Given the description of an element on the screen output the (x, y) to click on. 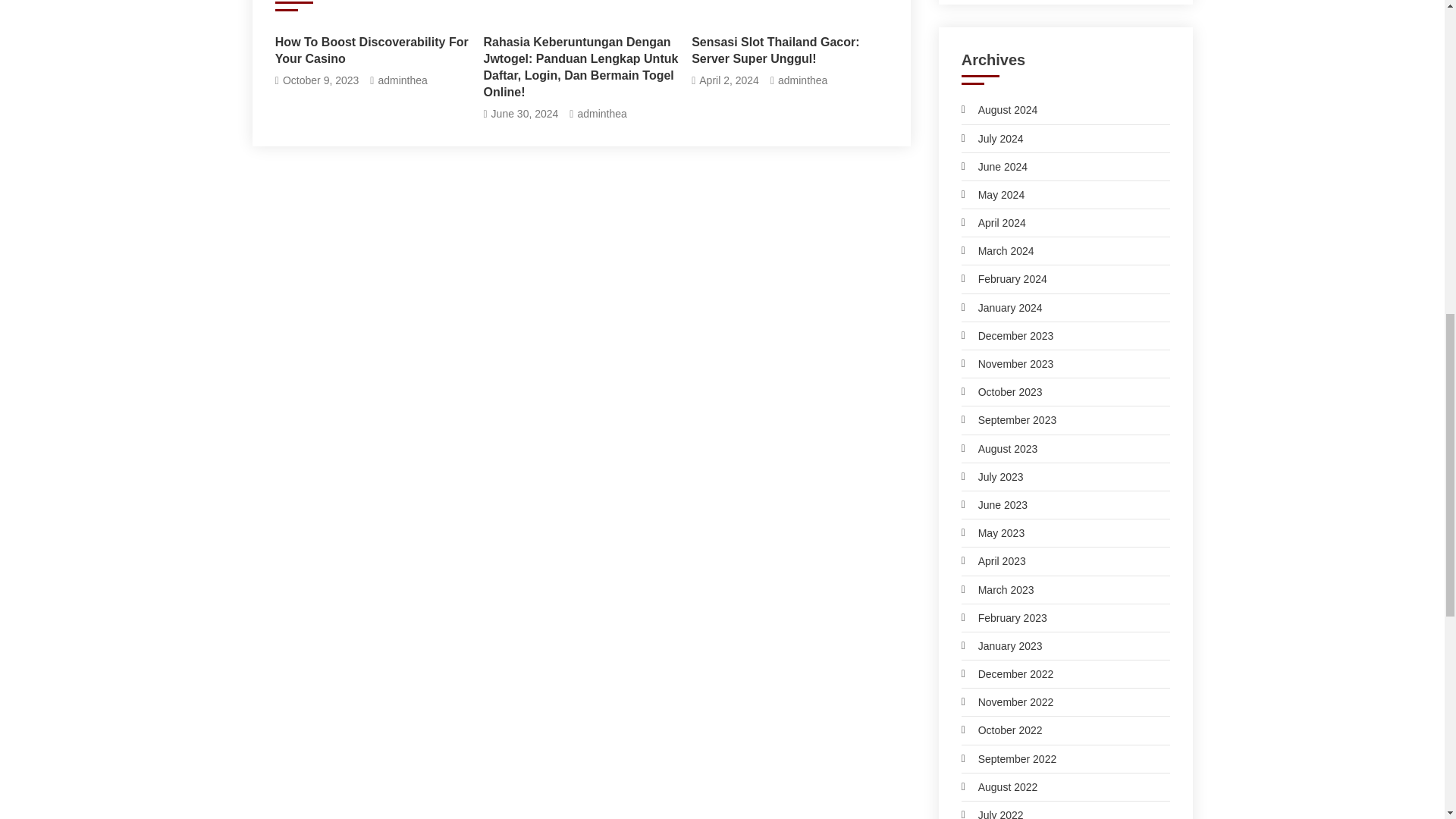
May 2024 (992, 194)
adminthea (802, 80)
April 2024 (993, 222)
adminthea (401, 80)
April 2, 2024 (728, 80)
October 9, 2023 (320, 80)
June 30, 2024 (525, 113)
Sensasi Slot Thailand Gacor: Server Super Unggul! (788, 50)
June 2024 (993, 166)
